Given the description of an element on the screen output the (x, y) to click on. 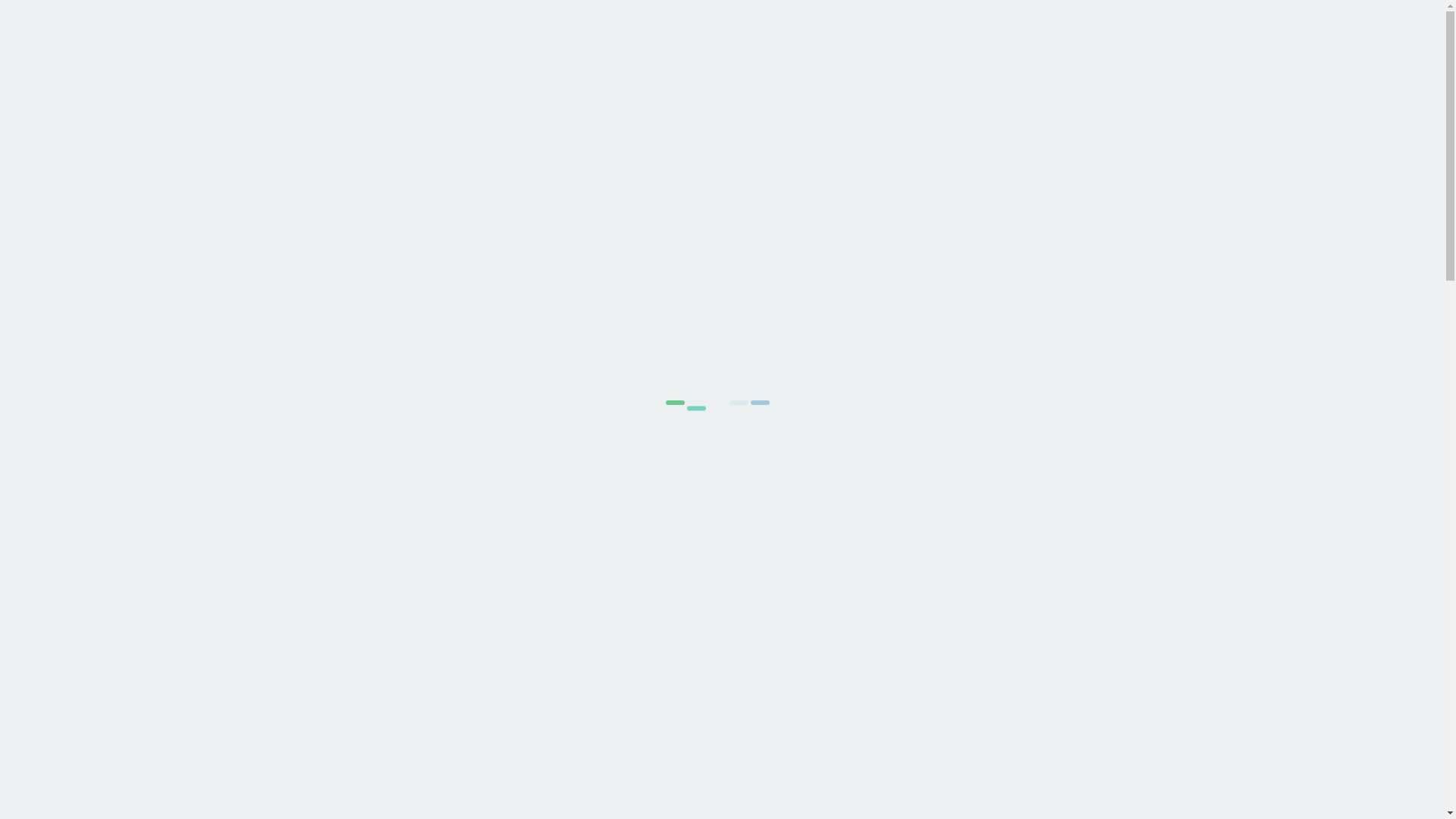
Marketler Element type: text (1005, 36)
Burada.cc Element type: text (350, 32)
Servisler Element type: text (846, 36)
Blog Element type: text (892, 36)
OK Element type: text (1091, 39)
Siteye git Element type: text (1117, 36)
LEARN MORE Element type: text (1027, 39)
Mart 2019 Element type: text (1011, 670)
Rakamlar Element type: text (942, 36)
Ana sayfa Element type: text (787, 36)
